Given the description of an element on the screen output the (x, y) to click on. 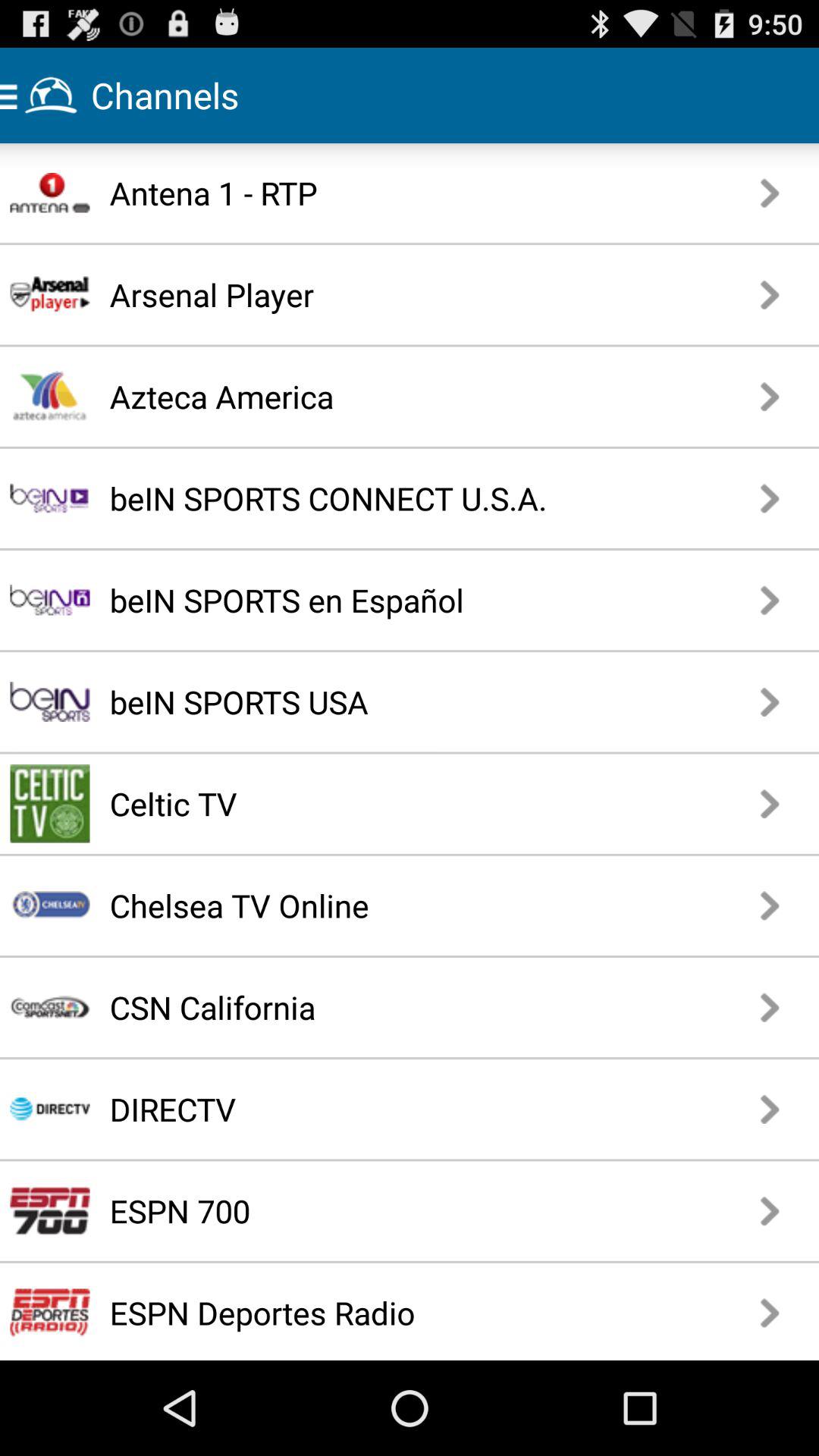
select the icon above the chelsea tv online (355, 803)
